Given the description of an element on the screen output the (x, y) to click on. 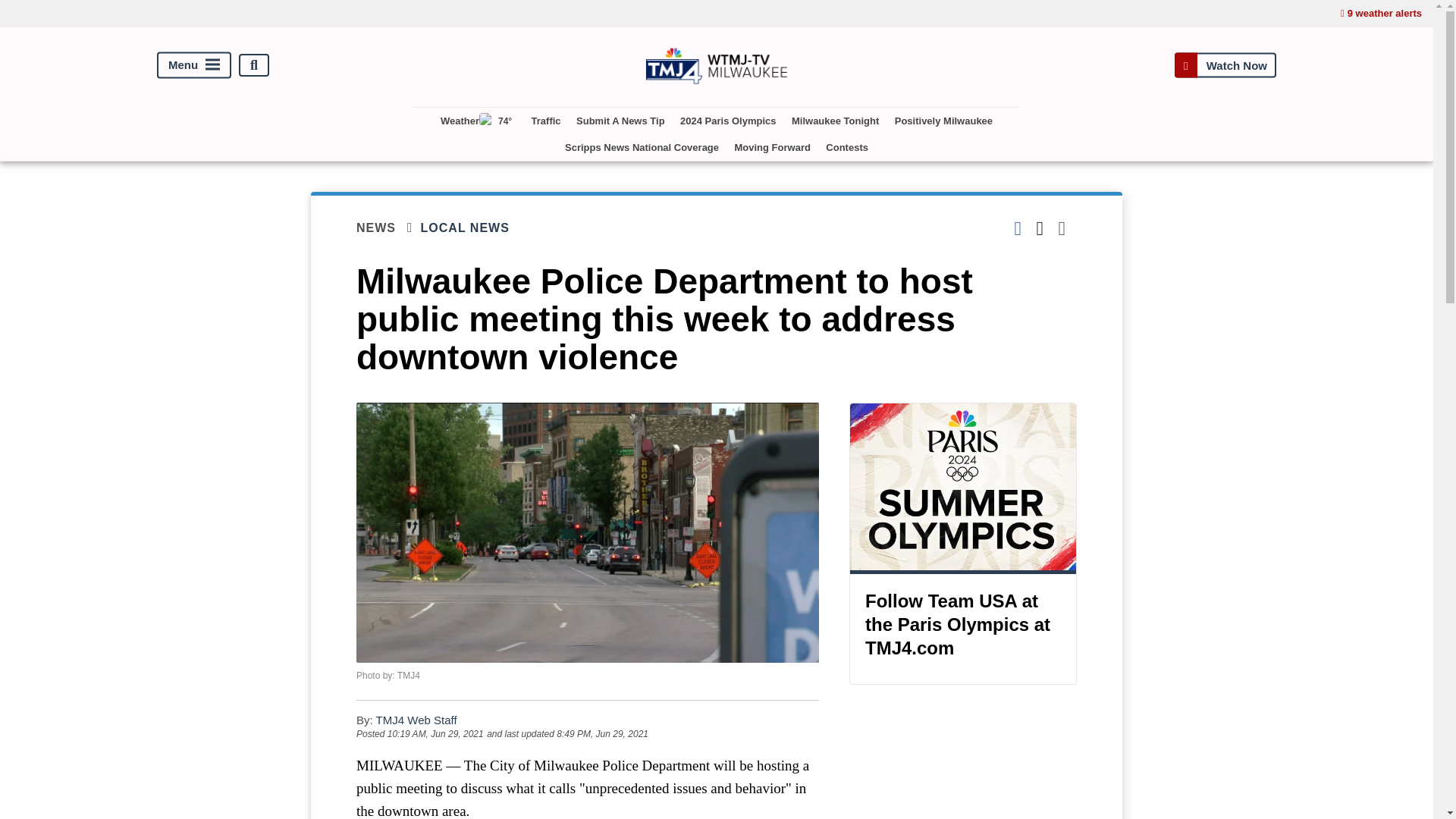
Menu (194, 65)
Watch Now (1224, 65)
